Given the description of an element on the screen output the (x, y) to click on. 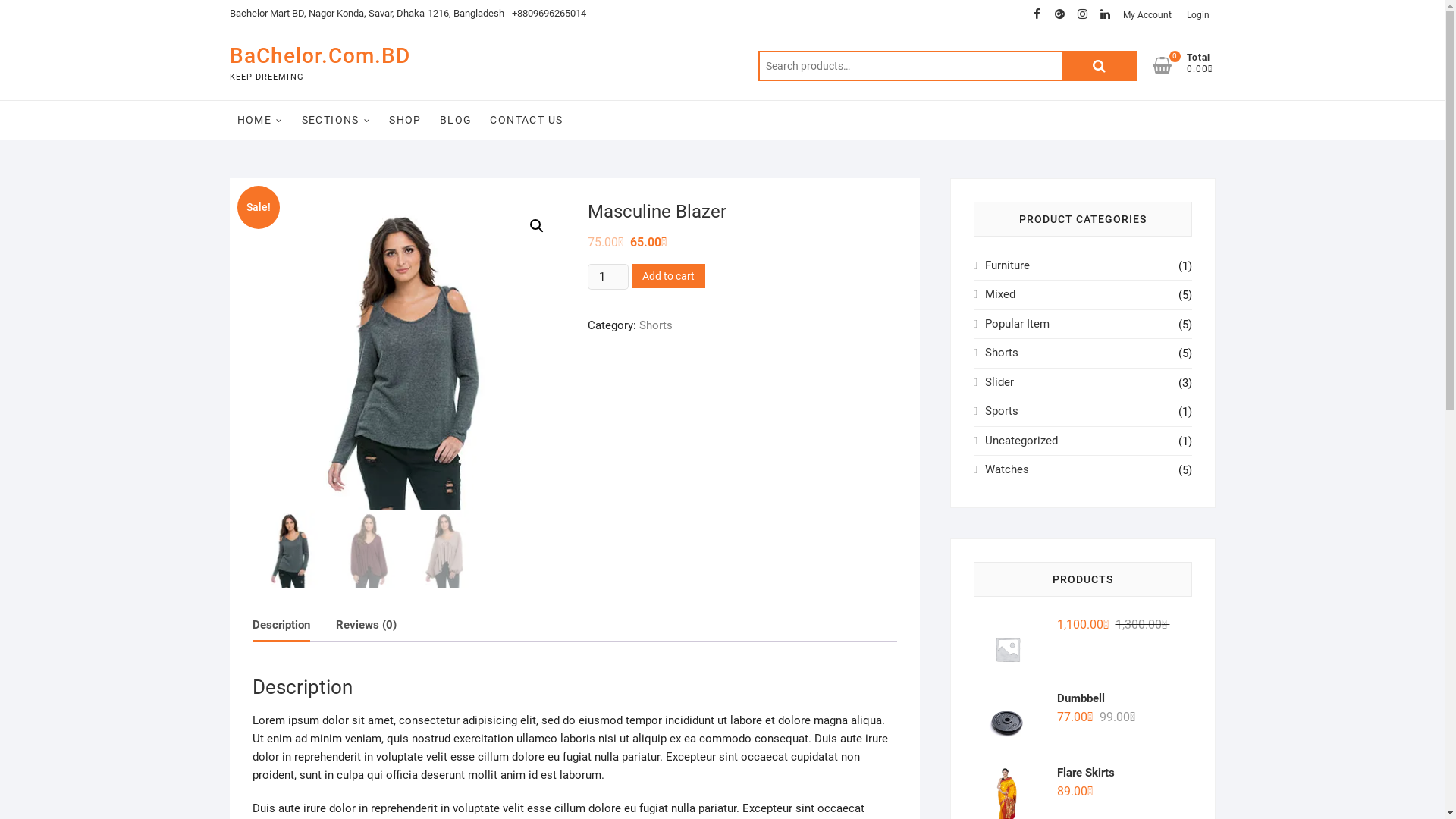
Uncategorized Element type: text (1021, 440)
facebook Element type: text (1036, 14)
+8809696265014 Element type: text (548, 13)
My Account Element type: text (1146, 14)
Shorts Element type: text (654, 325)
Description Element type: text (280, 625)
Sports Element type: text (1001, 410)
Bachelor Mart BD, Nagor Konda, Savar, Dhaka-1216, Bangladesh Element type: text (366, 13)
Watches Element type: text (1007, 469)
linkedin Element type: text (1104, 14)
Mixed Element type: text (1000, 294)
BLOG Element type: text (456, 119)
0 Element type: text (1169, 64)
Slider Element type: text (999, 382)
SHOP Element type: text (405, 119)
Shorts Element type: text (1001, 352)
SECTIONS Element type: text (336, 119)
google Element type: text (1059, 14)
BaChelor.Com.BD Element type: text (319, 55)
Add to cart Element type: text (668, 275)
Dumbbell Element type: text (1082, 698)
Login Element type: text (1196, 14)
Furniture Element type: text (1007, 265)
Search Element type: text (1099, 65)
Flare Skirts Element type: text (1082, 772)
CONTACT US Element type: text (526, 119)
instagram Element type: text (1081, 14)
HOME Element type: text (259, 119)
Reviews (0) Element type: text (365, 625)
Popular Item Element type: text (1017, 323)
